Given the description of an element on the screen output the (x, y) to click on. 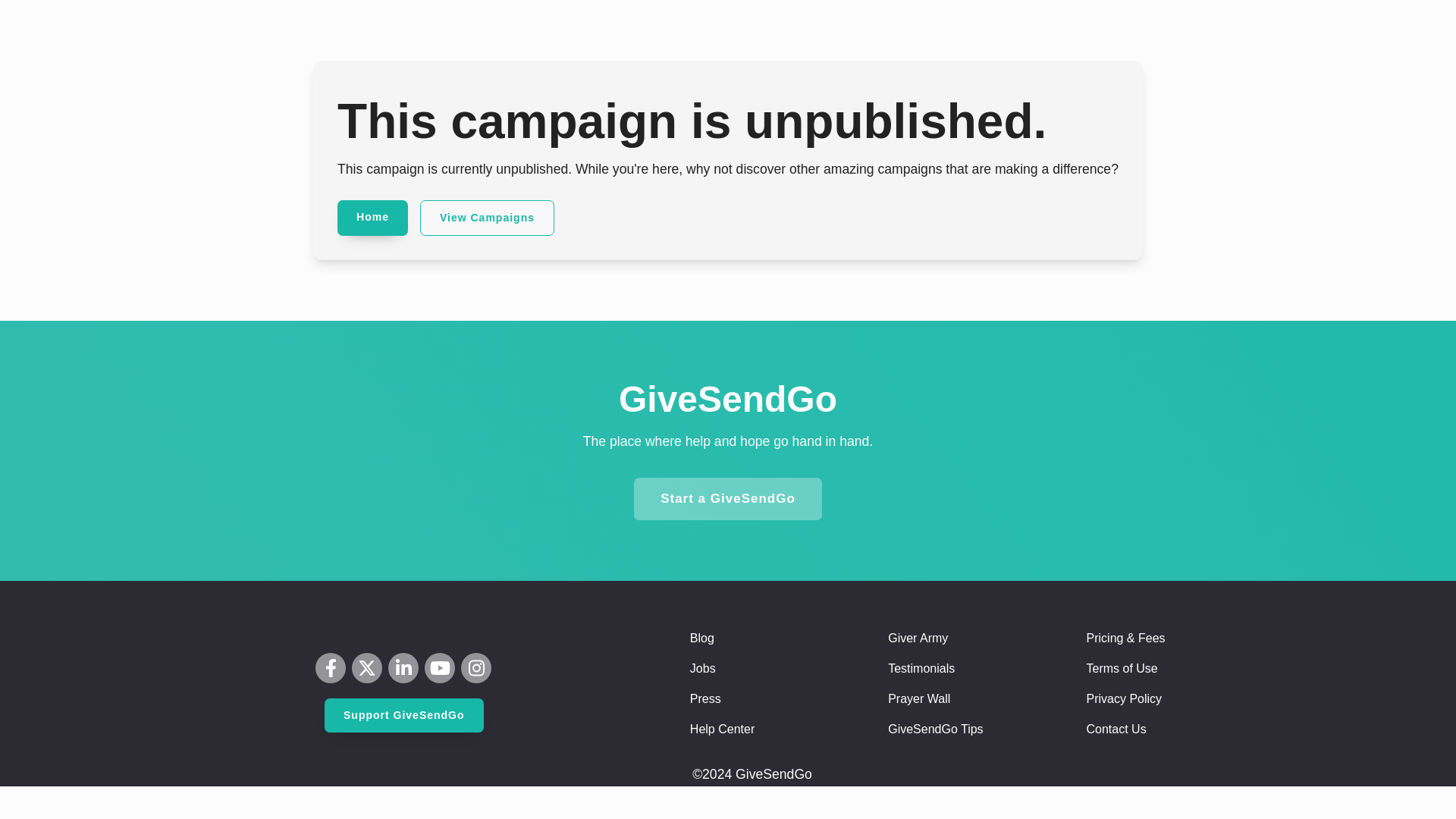
Testimonials (921, 669)
Blog (702, 638)
Giver Army (917, 638)
Contact Us (1116, 729)
Terms of Use (1121, 669)
GiveSendGo Tips (935, 729)
Jobs (703, 669)
Help Center (722, 729)
Start a GiveSendGo (727, 498)
Prayer Wall (919, 699)
